Given the description of an element on the screen output the (x, y) to click on. 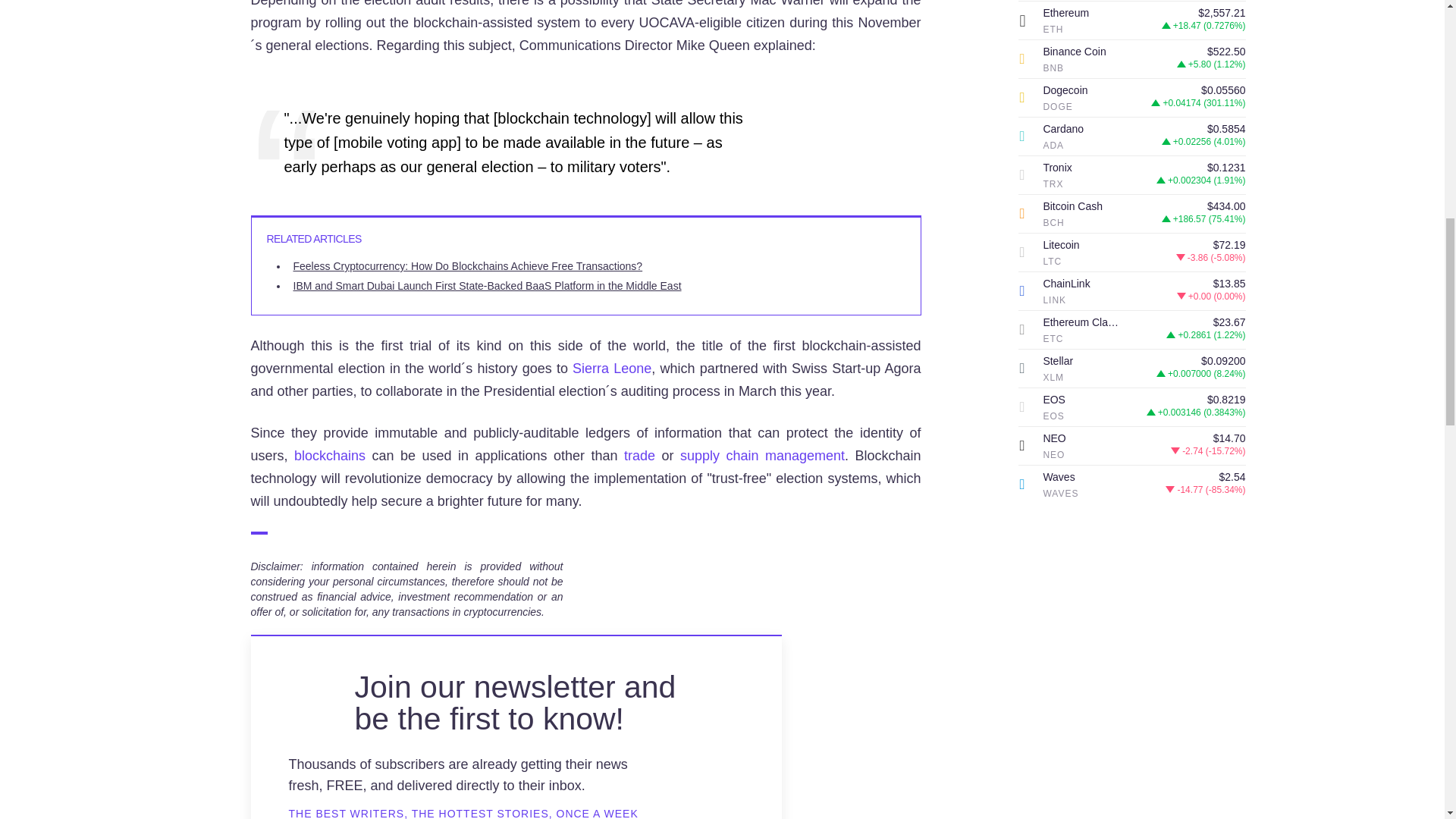
Bitcoin price at Bitrates.com (639, 455)
Paypal and Walmart Patent Blockchain Based Solutions (761, 455)
What is Blockchain Technology? at Bitrates.com (329, 455)
